Given the description of an element on the screen output the (x, y) to click on. 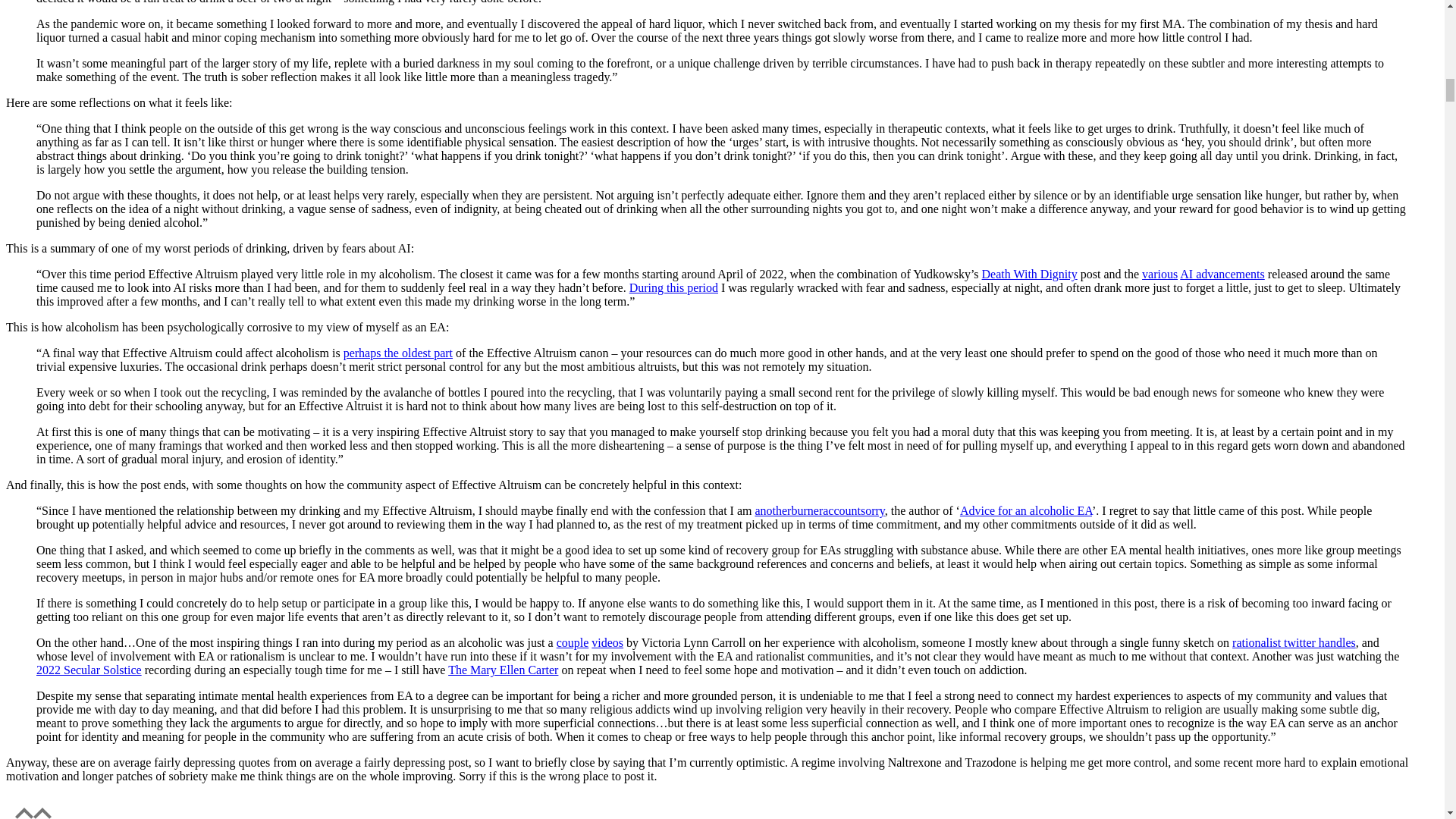
perhaps the oldest part (397, 352)
Death With Dignity (1029, 273)
couple (572, 642)
During this period (672, 287)
anotherburneraccountsorry (818, 510)
The Mary Ellen Carter (502, 669)
2022 Secular Solstice (88, 669)
AI advancements (1222, 273)
various (1159, 273)
Advice for an alcoholic EA (1025, 510)
rationalist twitter handles (1293, 642)
videos (607, 642)
